Given the description of an element on the screen output the (x, y) to click on. 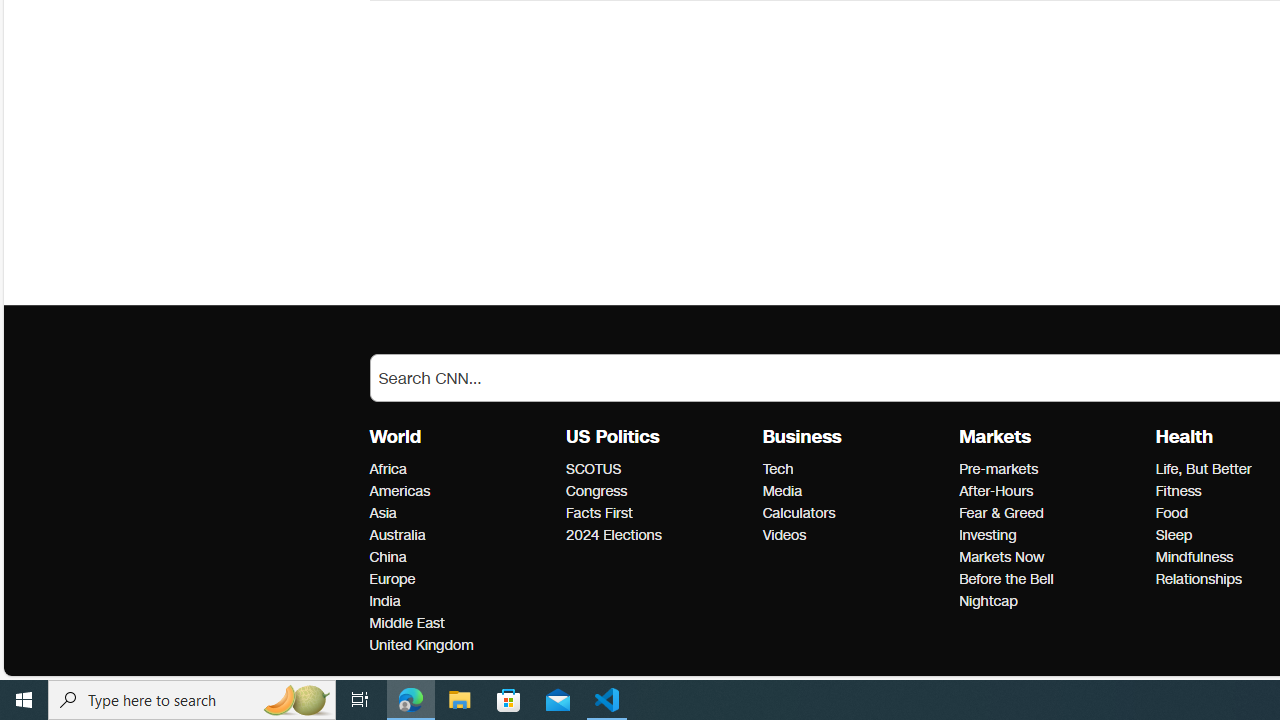
World Europe (392, 579)
Markets Investing (987, 535)
World Australia (397, 535)
